Given the description of an element on the screen output the (x, y) to click on. 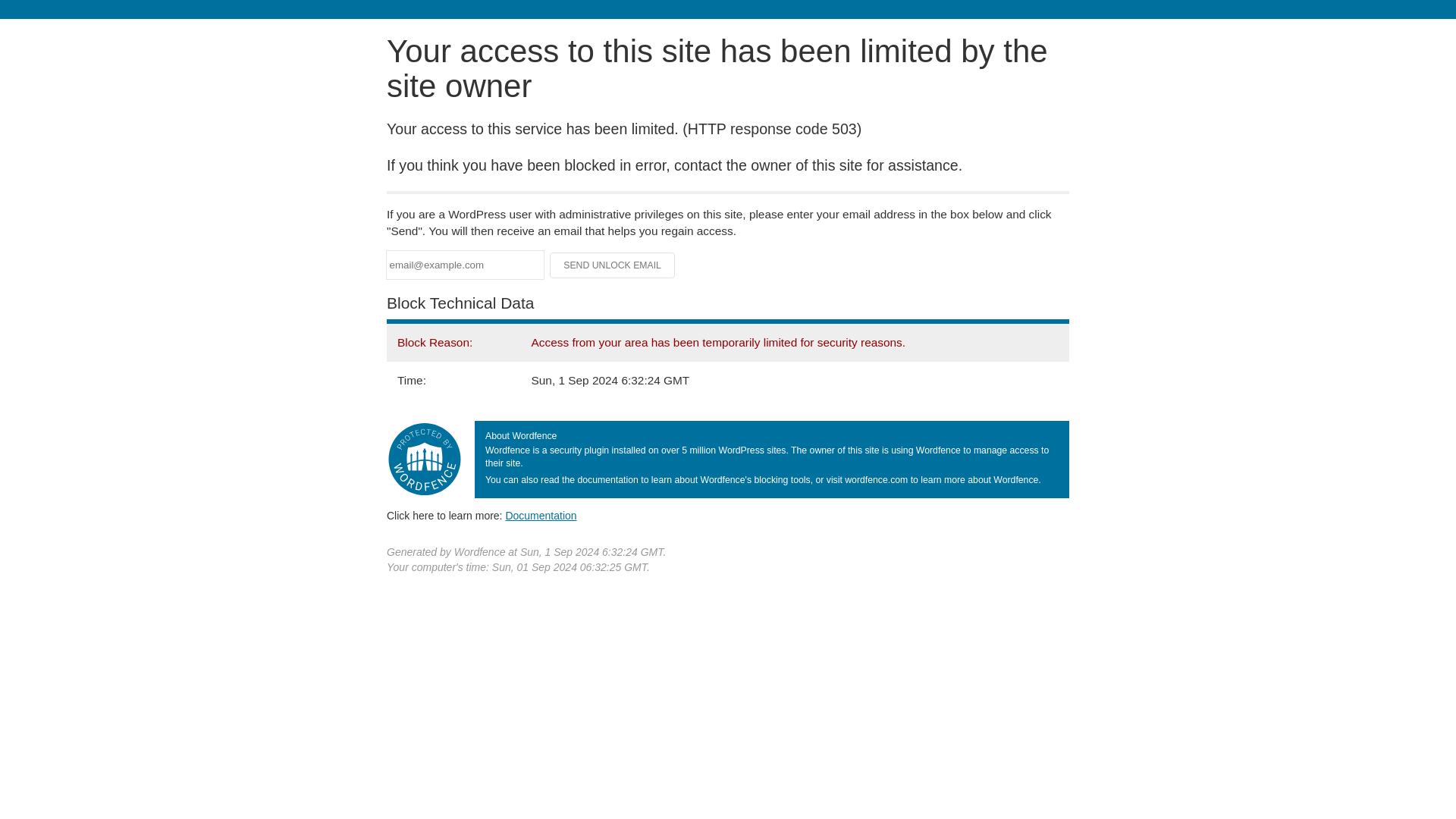
Send Unlock Email (612, 265)
Send Unlock Email (612, 265)
Documentation (540, 515)
